Given the description of an element on the screen output the (x, y) to click on. 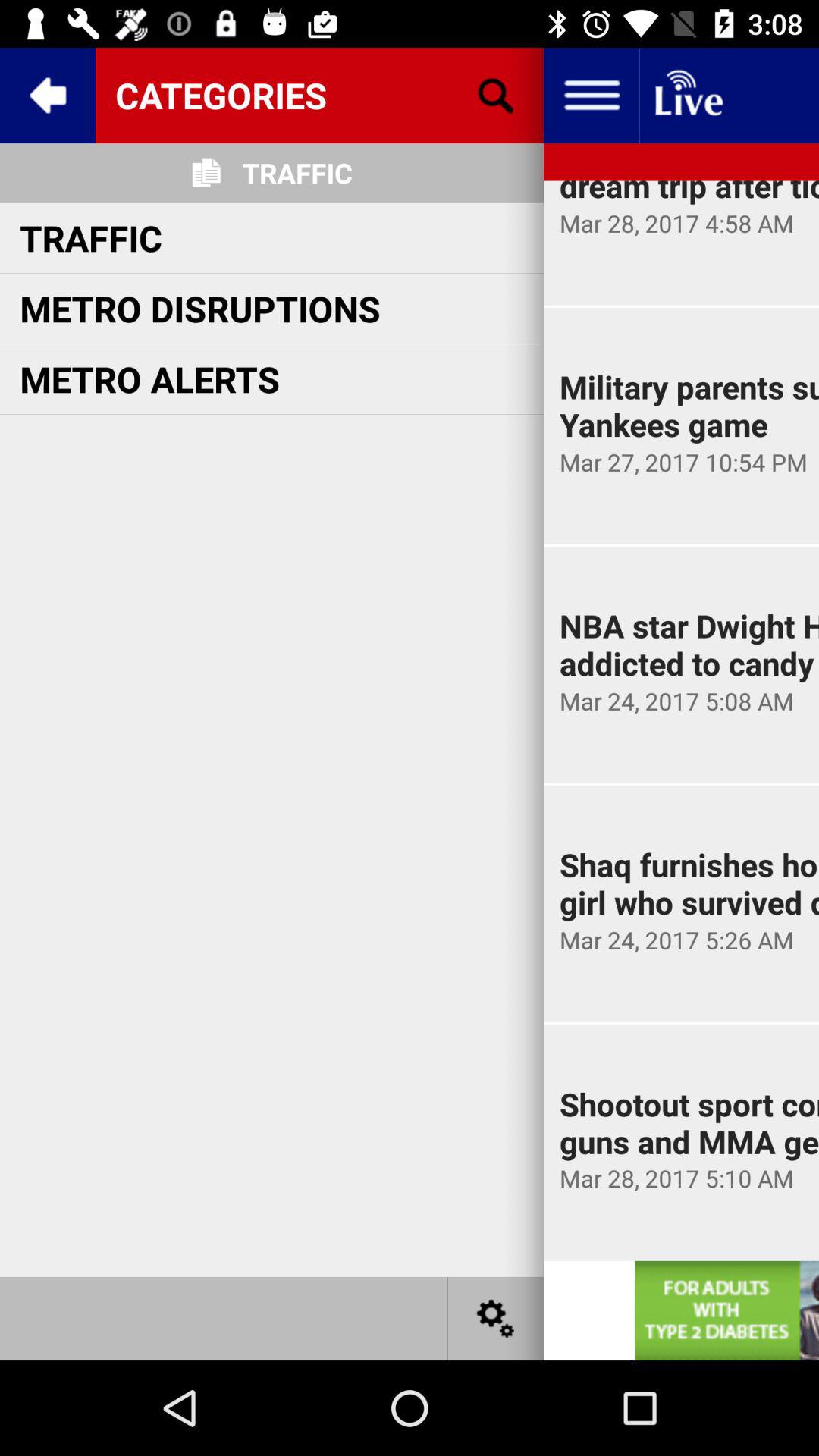
back arrow icon (47, 95)
